Given the description of an element on the screen output the (x, y) to click on. 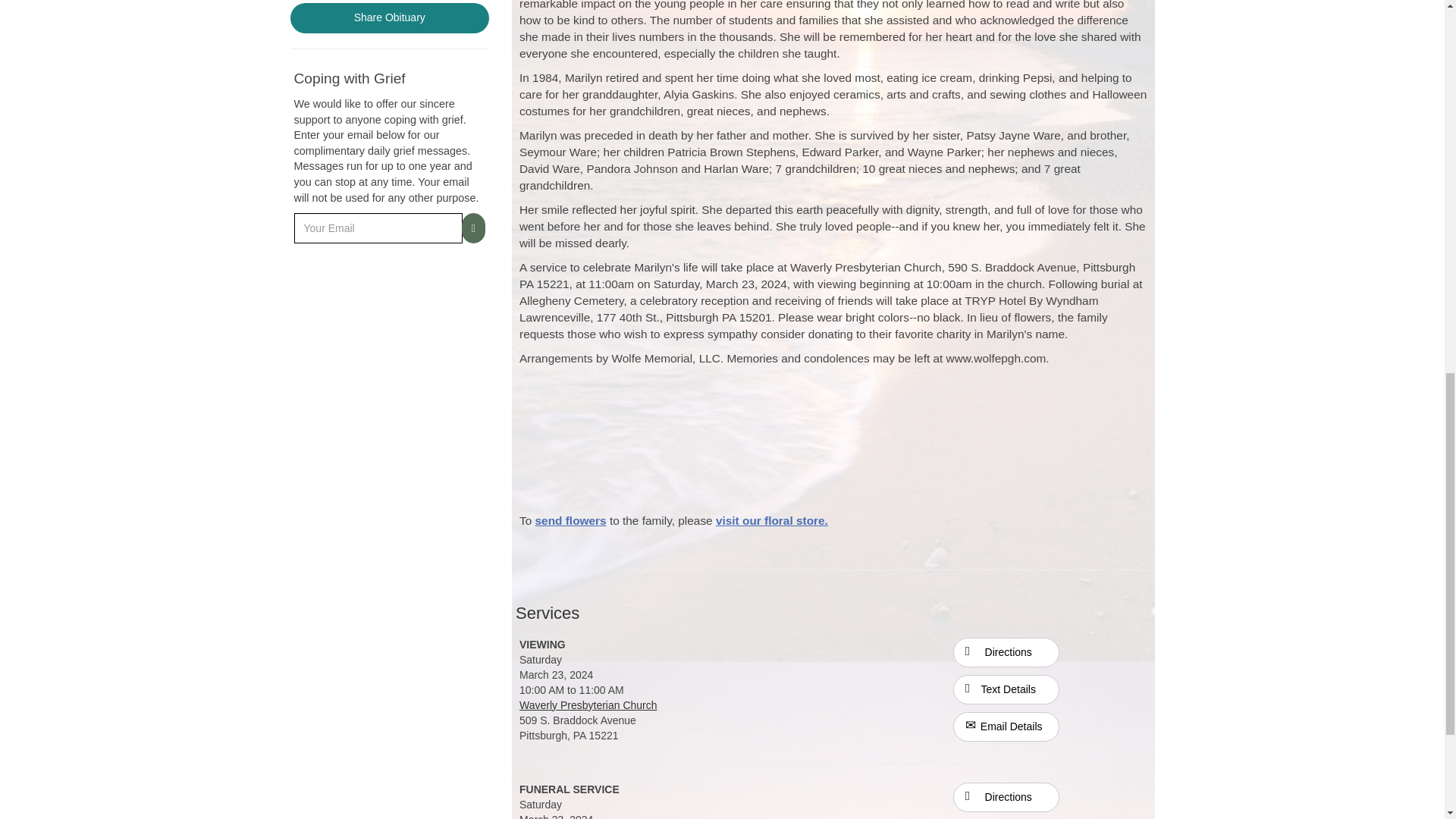
Email Details (1006, 726)
Text Details (1006, 689)
visit our floral store. (772, 520)
send flowers (571, 520)
Directions (1006, 652)
Directions (1006, 796)
Waverly Presbyterian Church (588, 705)
Share Obituary (389, 18)
Directions (1006, 651)
Directions (1006, 797)
